Given the description of an element on the screen output the (x, y) to click on. 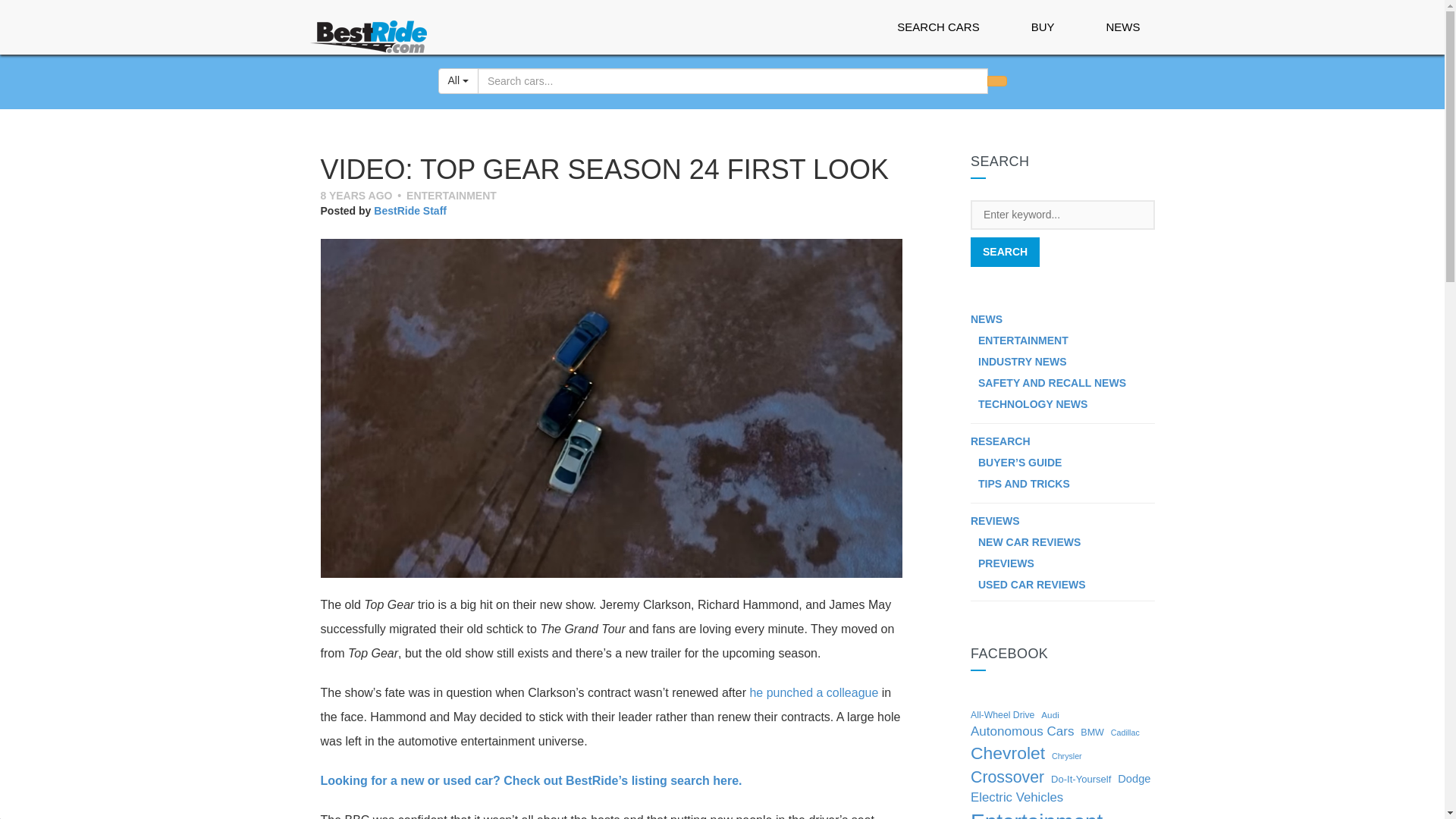
SEARCH CARS (938, 27)
Search for: (1062, 214)
NEWS (1122, 27)
All (458, 80)
Posts by BestRide Staff (410, 210)
Search (1005, 251)
Thu, 29 Dec 2016 08:24:48 -0500 (355, 195)
